Given the description of an element on the screen output the (x, y) to click on. 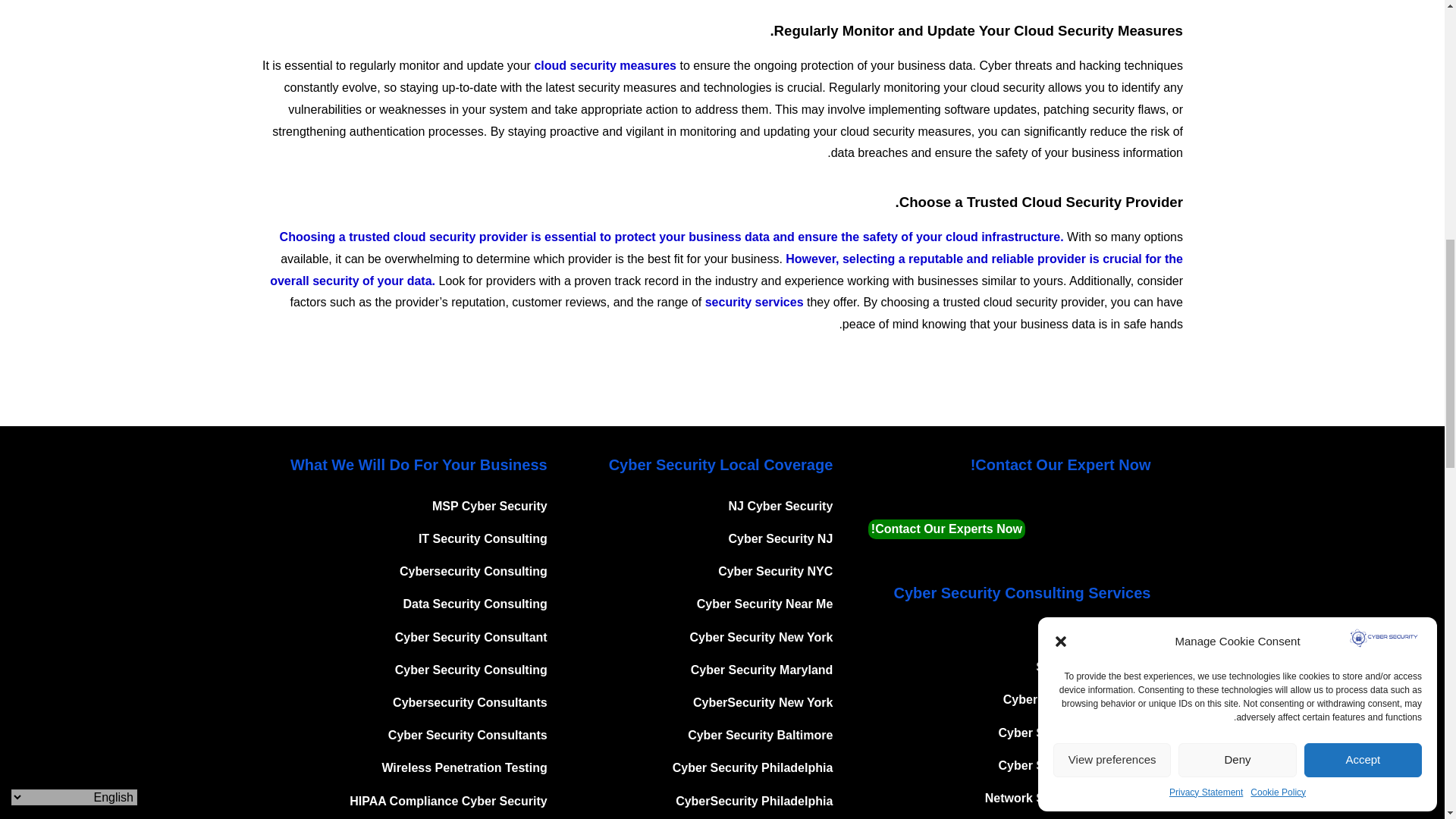
Contact Our Experts Now! (946, 528)
